Given the description of an element on the screen output the (x, y) to click on. 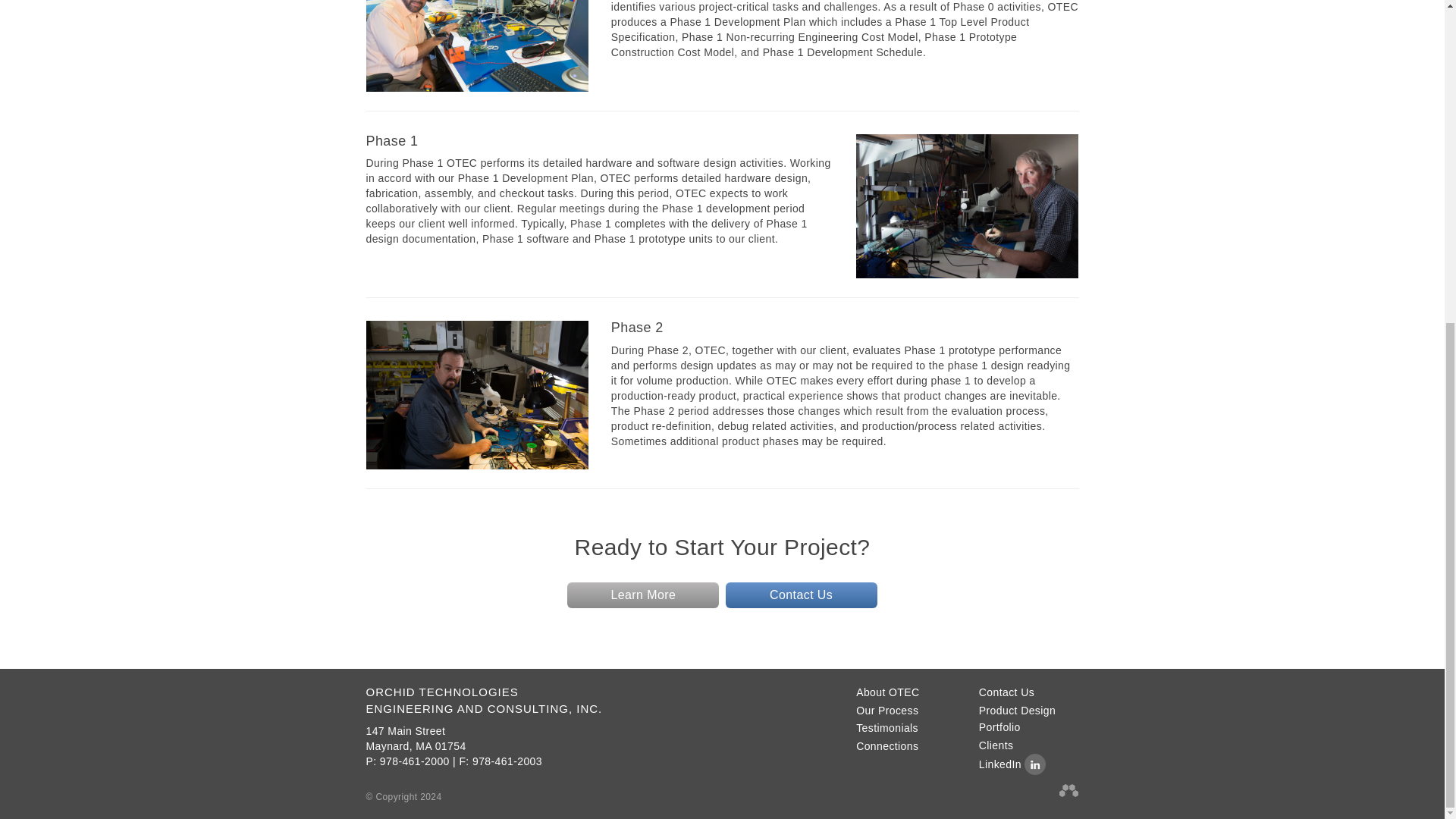
About OTEC (887, 692)
Contact Us (801, 595)
Our Process (887, 710)
Learn More (643, 595)
Clients (995, 745)
Site (1067, 790)
Testimonials (887, 727)
LinkedIn (1011, 764)
Connections (887, 745)
Product Design Portfolio (1028, 718)
Contact Us (415, 738)
